Given the description of an element on the screen output the (x, y) to click on. 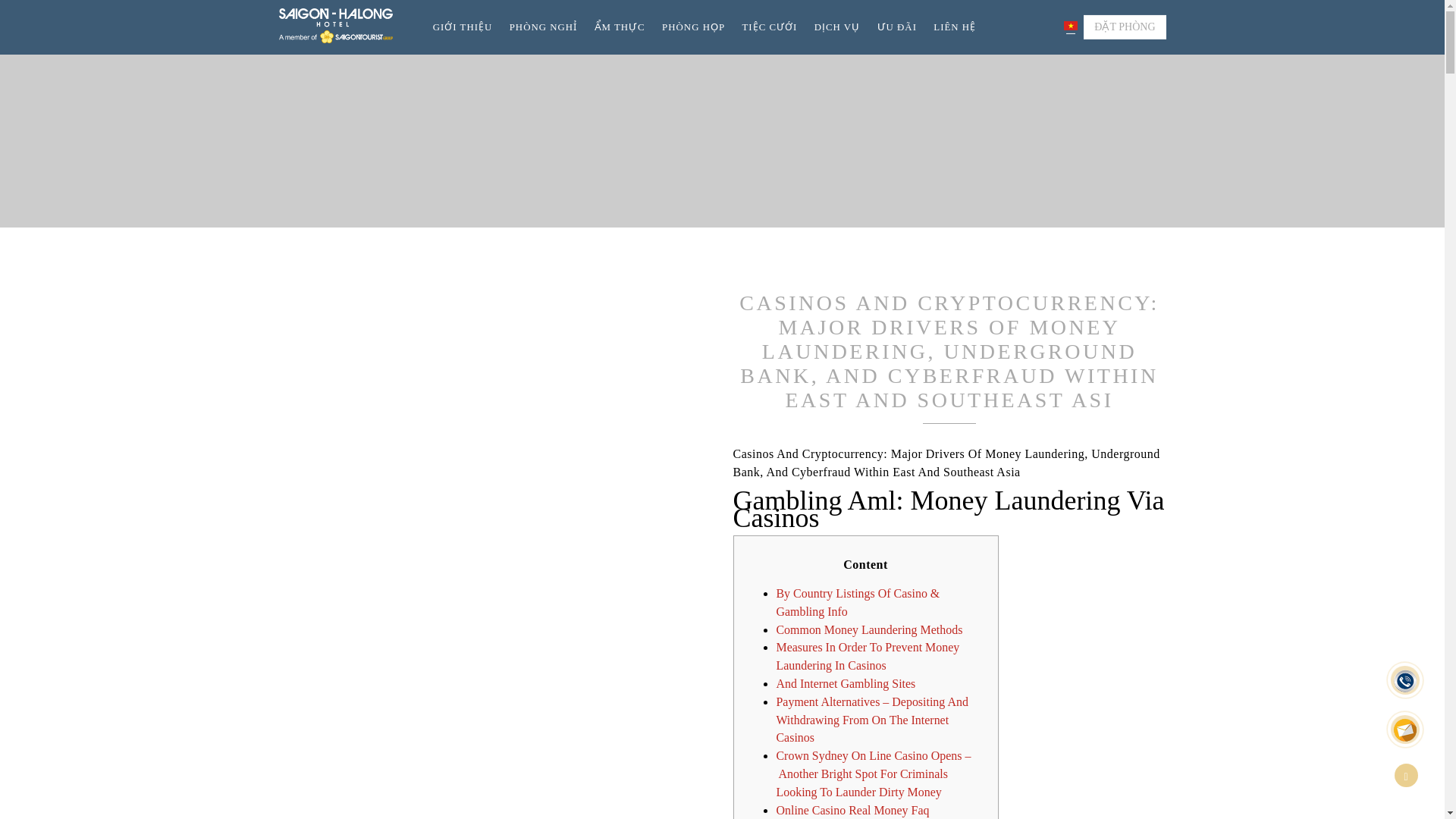
Online Casino Real Money Faq (852, 809)
Common Money Laundering Methods (869, 629)
Measures In Order To Prevent Money Laundering In Casinos (867, 655)
And Internet Gambling Sites (845, 683)
